Given the description of an element on the screen output the (x, y) to click on. 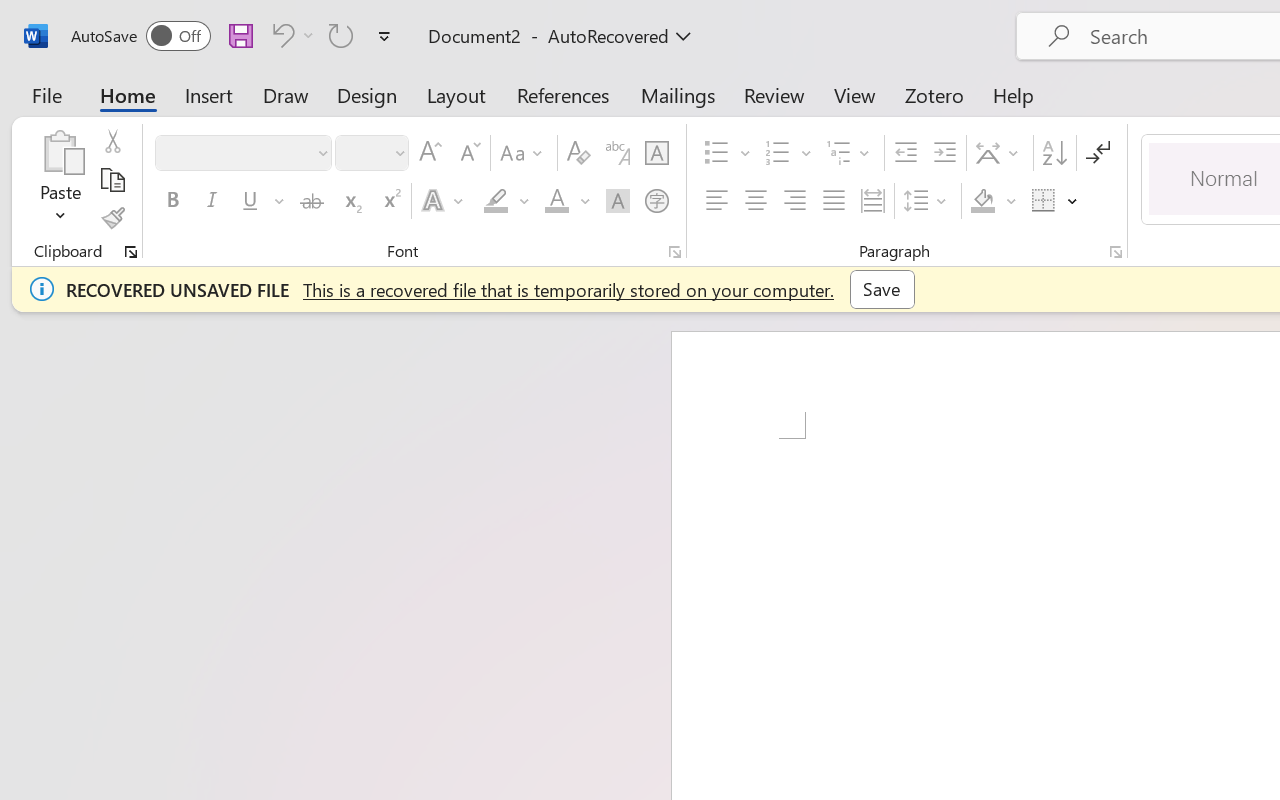
Paragraph... (1115, 252)
Font... (675, 252)
Text Effects and Typography (444, 201)
Sort... (1054, 153)
Text Highlight Color Yellow (495, 201)
Asian Layout (1000, 153)
Office Clipboard... (131, 252)
Can't Repeat (341, 35)
Shading (993, 201)
Character Shading (618, 201)
